Given the description of an element on the screen output the (x, y) to click on. 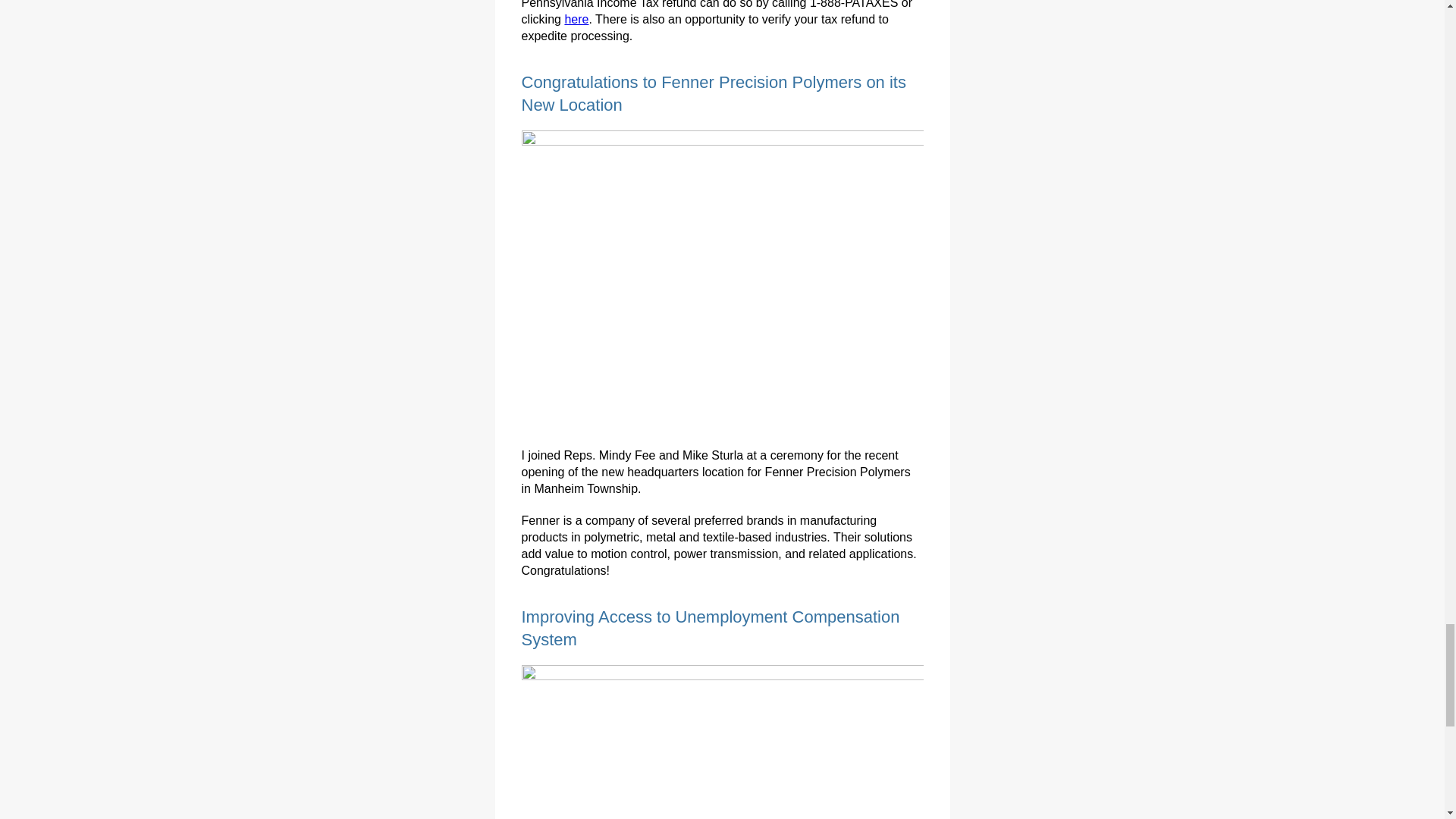
here (576, 19)
